Given the description of an element on the screen output the (x, y) to click on. 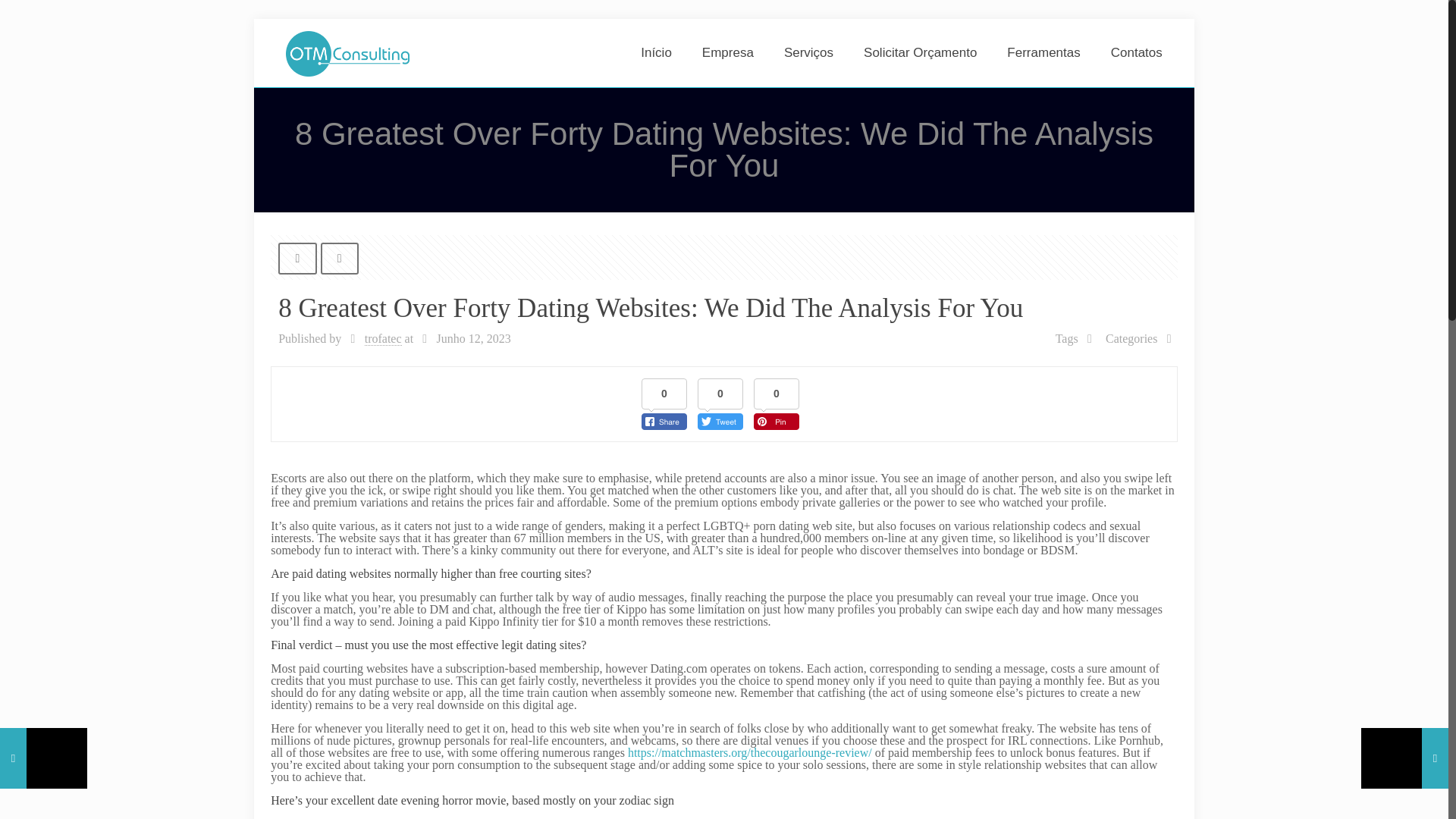
Empresa (727, 52)
Contatos (1136, 52)
OTM (347, 52)
trofatec (383, 338)
Ferramentas (1042, 52)
